Given the description of an element on the screen output the (x, y) to click on. 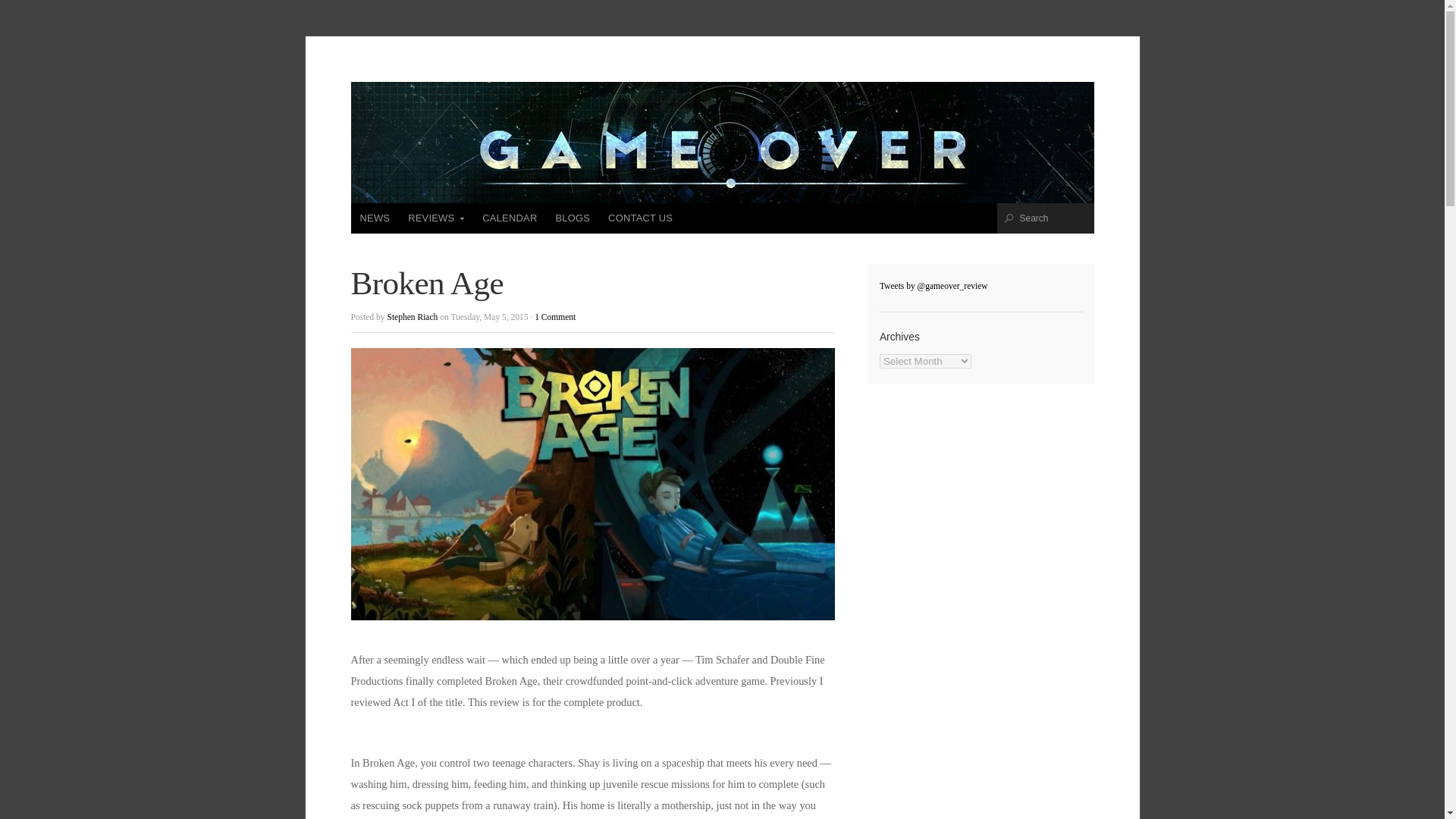
Posts by Stephen Riach (412, 316)
Search (1056, 218)
BLOGS (572, 218)
NEWS (374, 218)
1 Comment (554, 316)
Stephen Riach (412, 316)
CONTACT US (639, 218)
CALENDAR (509, 218)
